Given the description of an element on the screen output the (x, y) to click on. 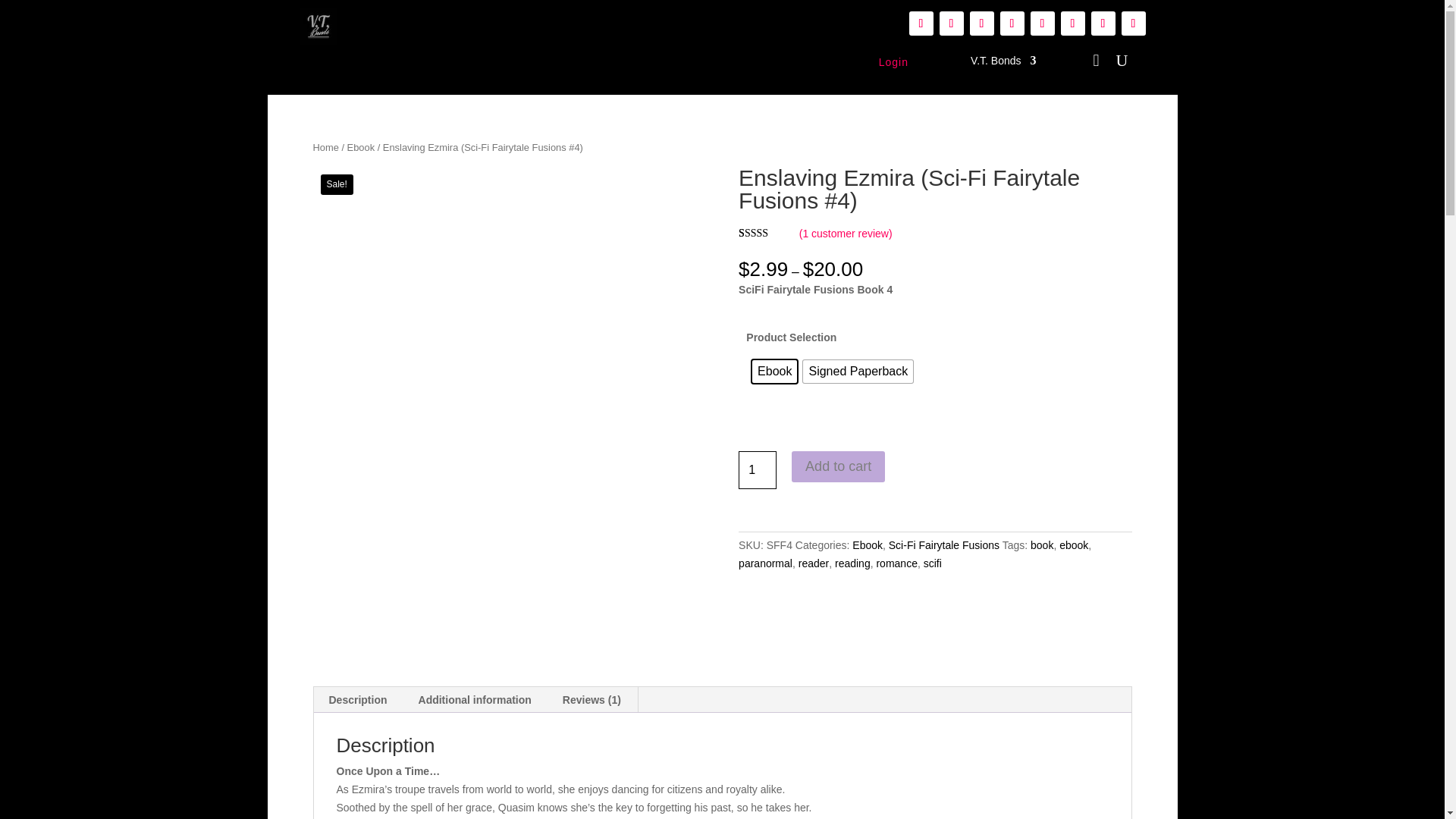
Ebook (774, 371)
paranormal (765, 563)
Follow on Facebook (950, 23)
Follow on Google (1041, 23)
reading (852, 563)
Add to cart (838, 466)
Home (325, 147)
ebook (1073, 544)
book (1041, 544)
Follow on TikTok (980, 23)
1 (757, 469)
Signed Paperback (857, 371)
Sci-Fi Fairytale Fusions (943, 544)
Follow on X (1102, 23)
Follow on Instagram (1071, 23)
